Given the description of an element on the screen output the (x, y) to click on. 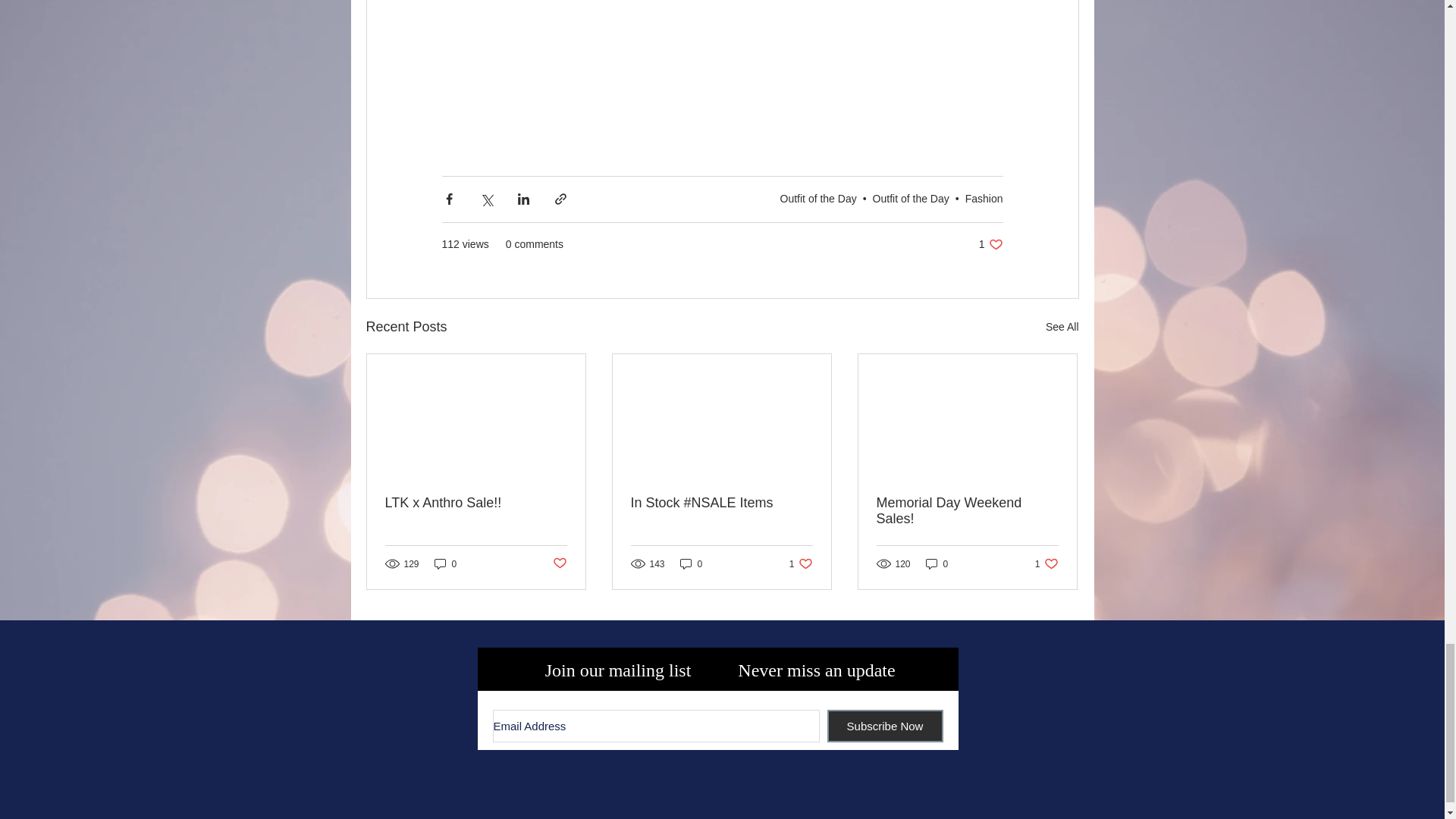
Outfit of the Day (910, 198)
Post not marked as liked (558, 563)
See All (1061, 327)
0 (937, 563)
Fashion (800, 563)
0 (984, 198)
Outfit of the Day (691, 563)
Memorial Day Weekend Sales! (818, 198)
0 (967, 511)
Subscribe Now (990, 244)
LTK x Anthro Sale!! (445, 563)
